Given the description of an element on the screen output the (x, y) to click on. 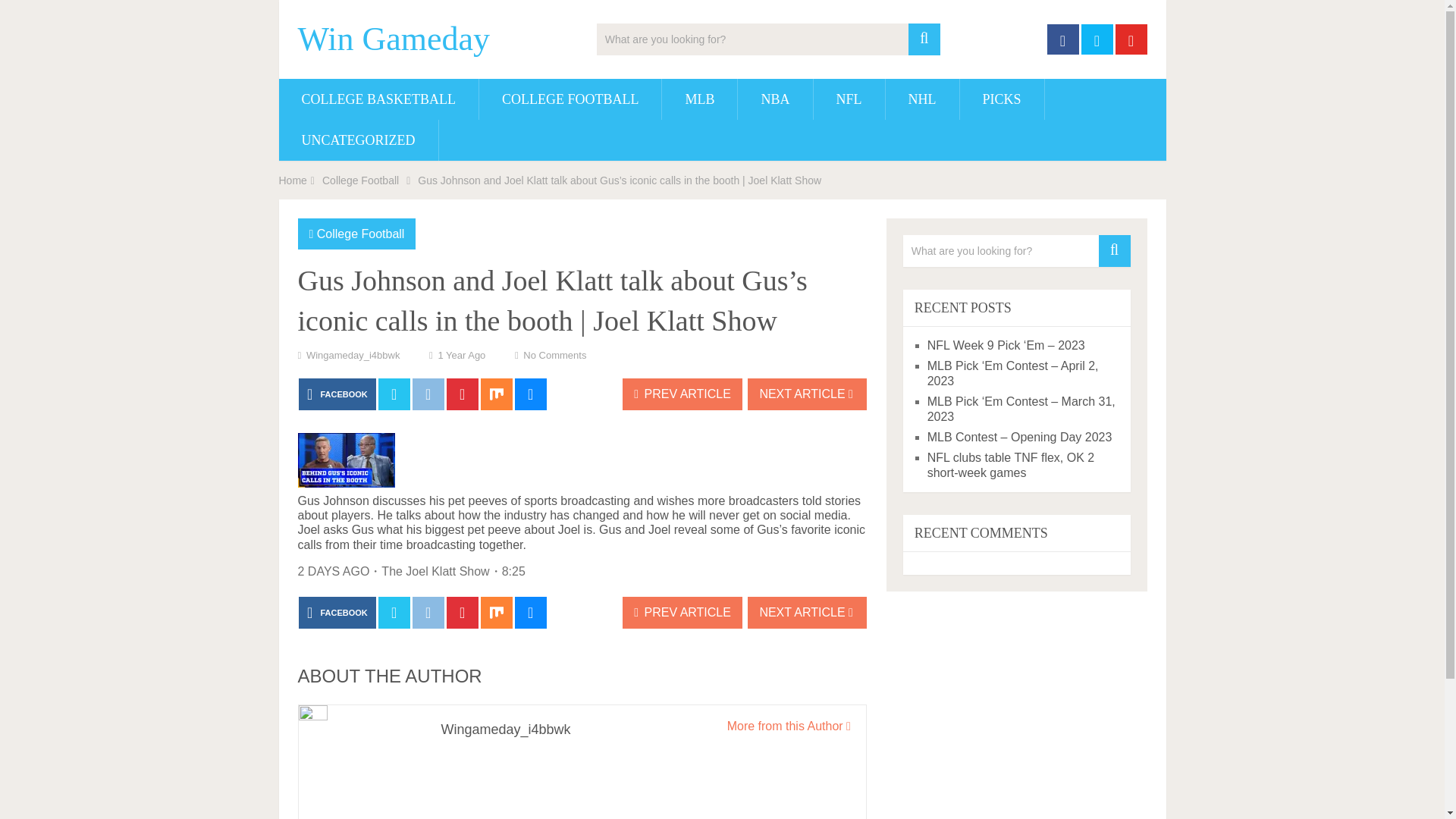
PICKS (1001, 98)
PREV ARTICLE (682, 394)
No Comments (554, 355)
View all posts in College Football (360, 233)
COLLEGE BASKETBALL (379, 98)
College Football (359, 180)
FACEBOOK (336, 612)
UNCATEGORIZED (358, 139)
NBA (775, 98)
PREV ARTICLE (682, 612)
College Football (360, 233)
More from this Author (788, 725)
NHL (922, 98)
NEXT ARTICLE (807, 612)
Win Gameday (393, 39)
